Given the description of an element on the screen output the (x, y) to click on. 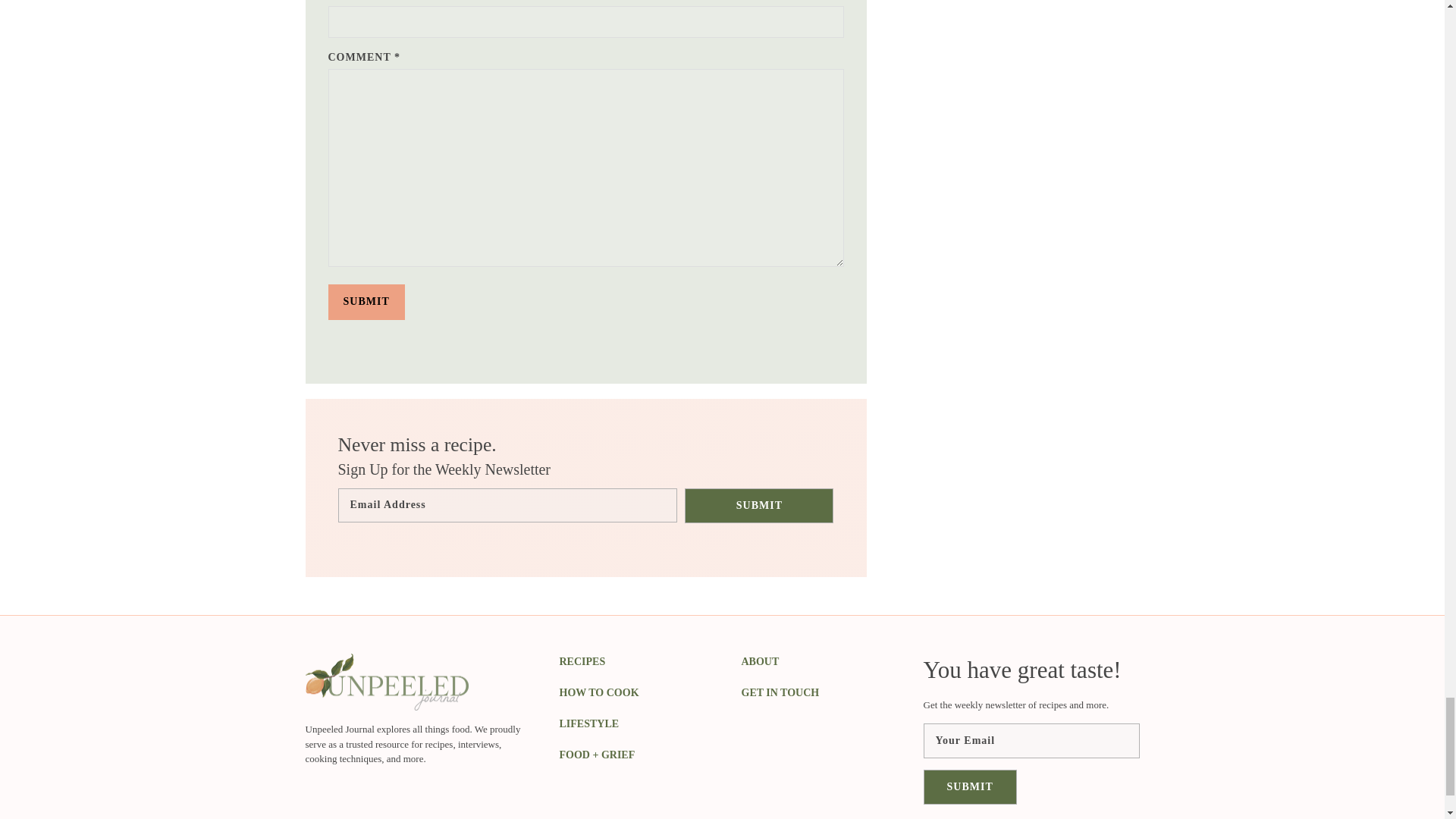
Submit (365, 301)
